Given the description of an element on the screen output the (x, y) to click on. 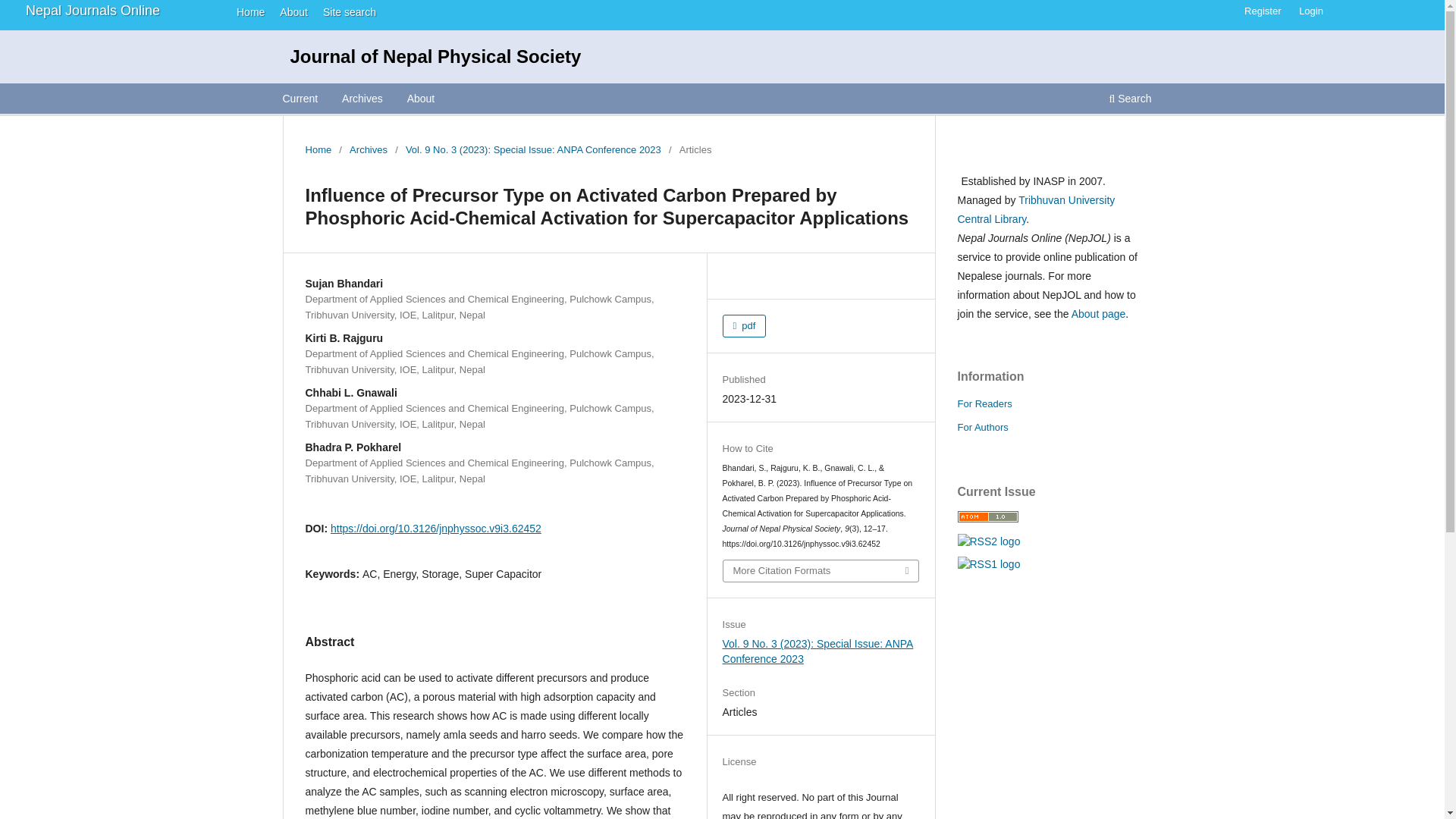
pdf (744, 325)
About (421, 99)
Search (1129, 99)
Home (245, 11)
Register (1262, 11)
Site search (344, 11)
Journal of Nepal Physical Society (434, 56)
About (289, 11)
Archives (362, 99)
Current (300, 99)
Home (317, 150)
Nepal Journals Online (93, 10)
Login (1310, 11)
Archives (368, 150)
More Citation Formats (820, 570)
